Given the description of an element on the screen output the (x, y) to click on. 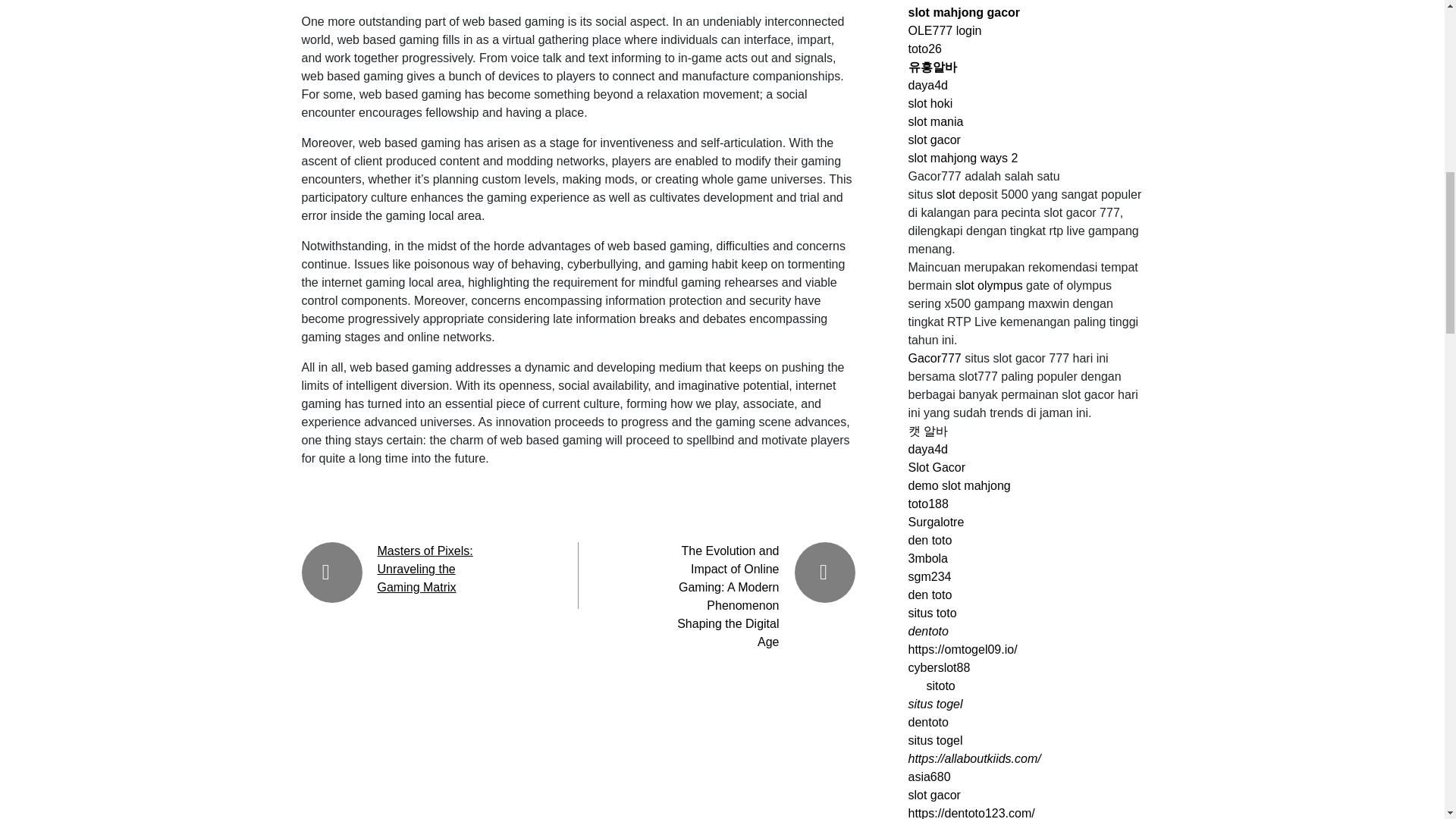
slot mahjong gacor (964, 11)
Masters of Pixels: Unraveling the Gaming Matrix (425, 568)
